Given the description of an element on the screen output the (x, y) to click on. 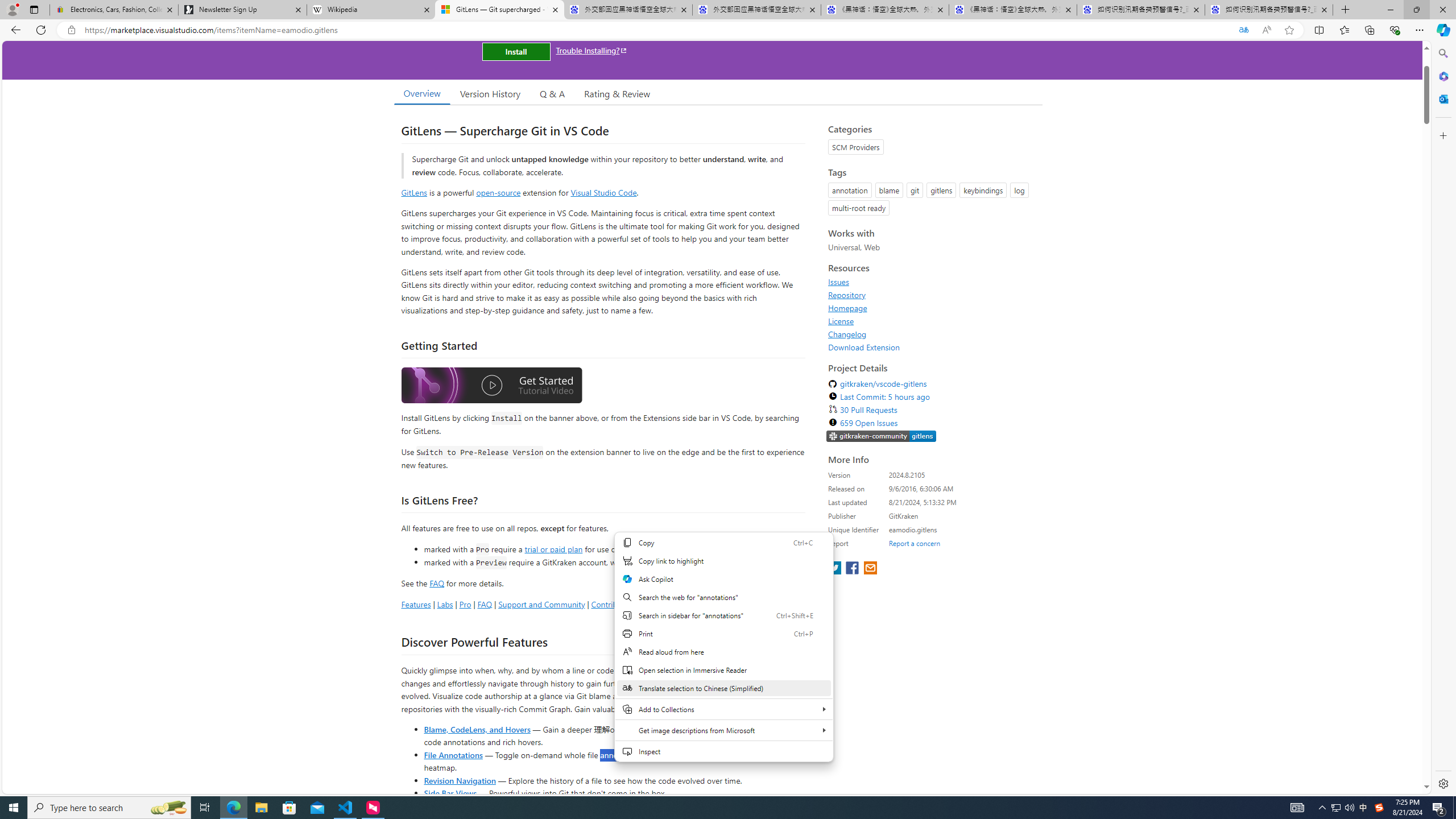
Visual Studio Code (603, 192)
Report a concern (914, 542)
Copy link to highlight (723, 561)
Overview (421, 92)
Add to Collections (723, 709)
Web context (724, 653)
GitLens (414, 192)
